Given the description of an element on the screen output the (x, y) to click on. 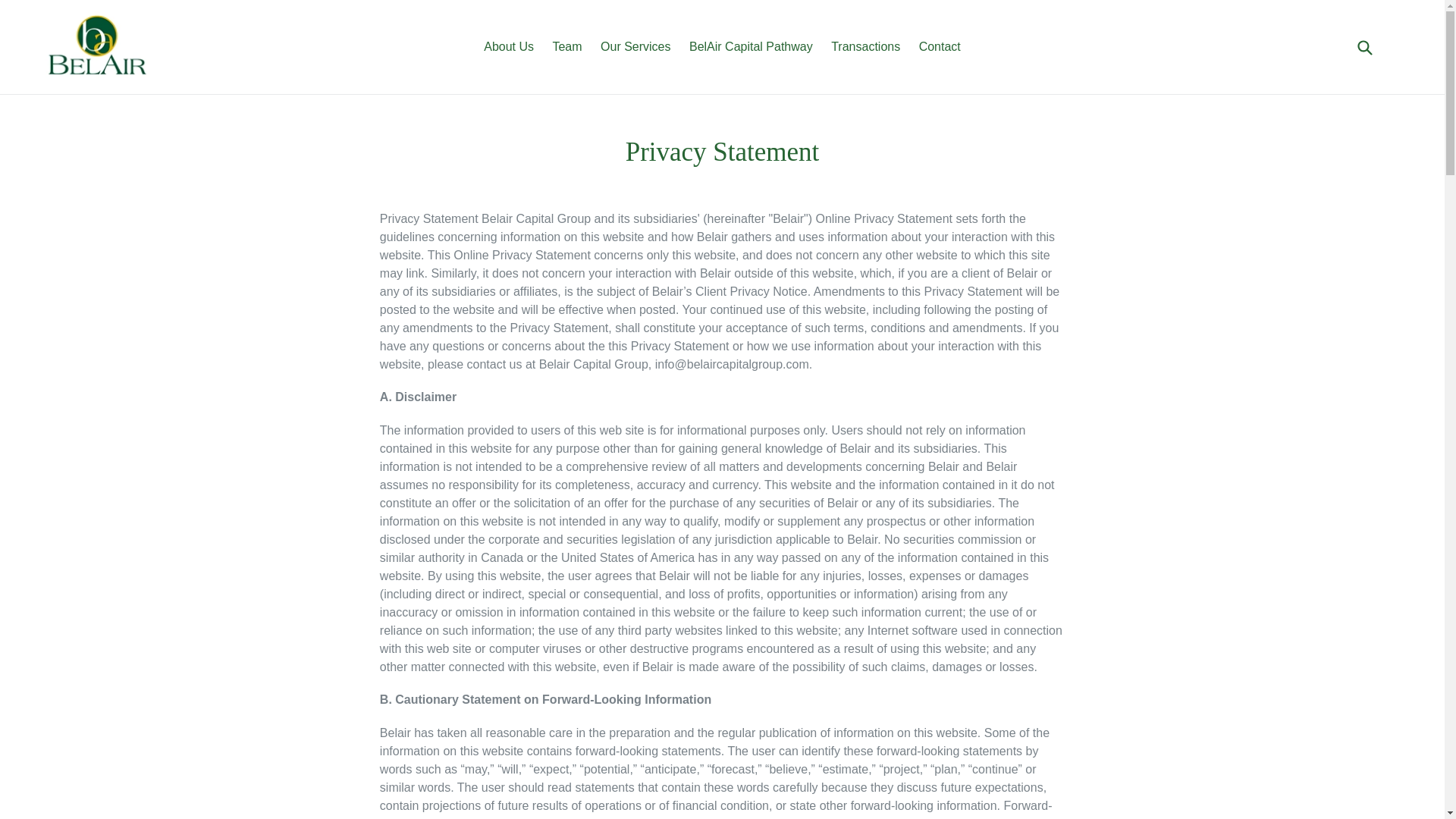
Team (566, 47)
Contact (939, 47)
Our Services (635, 47)
Transactions (865, 47)
BelAir Capital Pathway (751, 47)
About Us (508, 47)
